Given the description of an element on the screen output the (x, y) to click on. 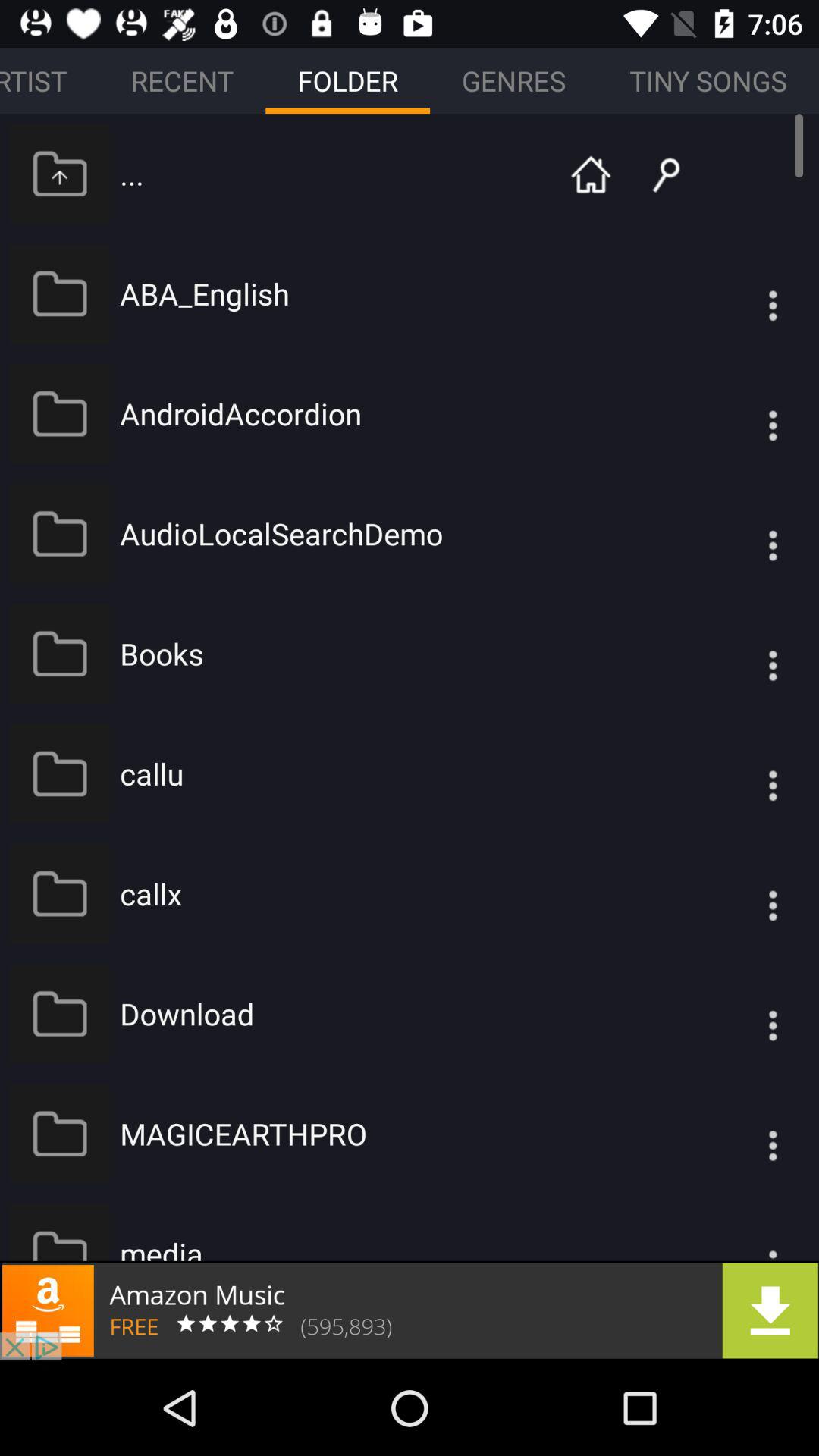
see file options (742, 293)
